Given the description of an element on the screen output the (x, y) to click on. 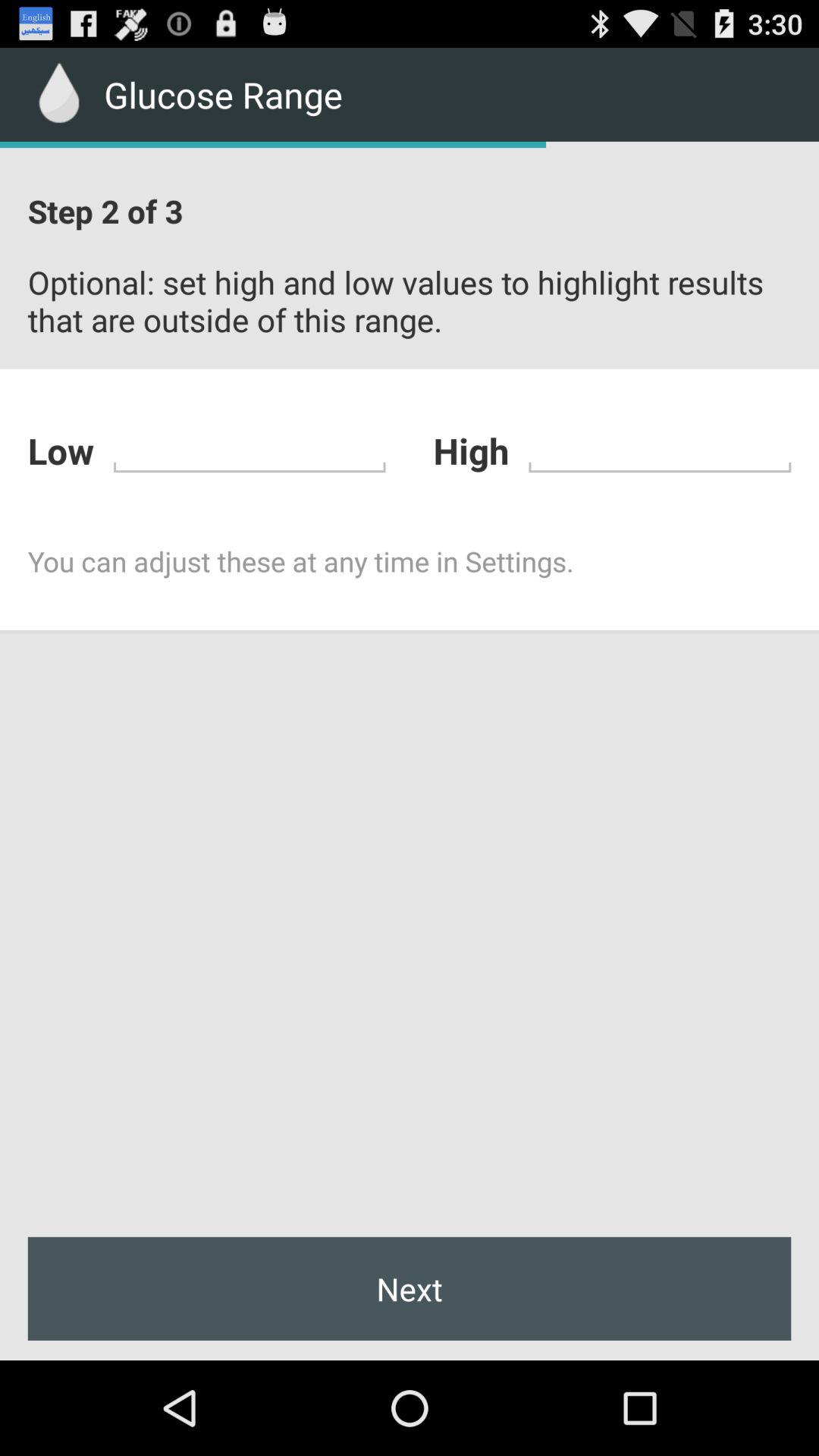
text box (659, 448)
